Given the description of an element on the screen output the (x, y) to click on. 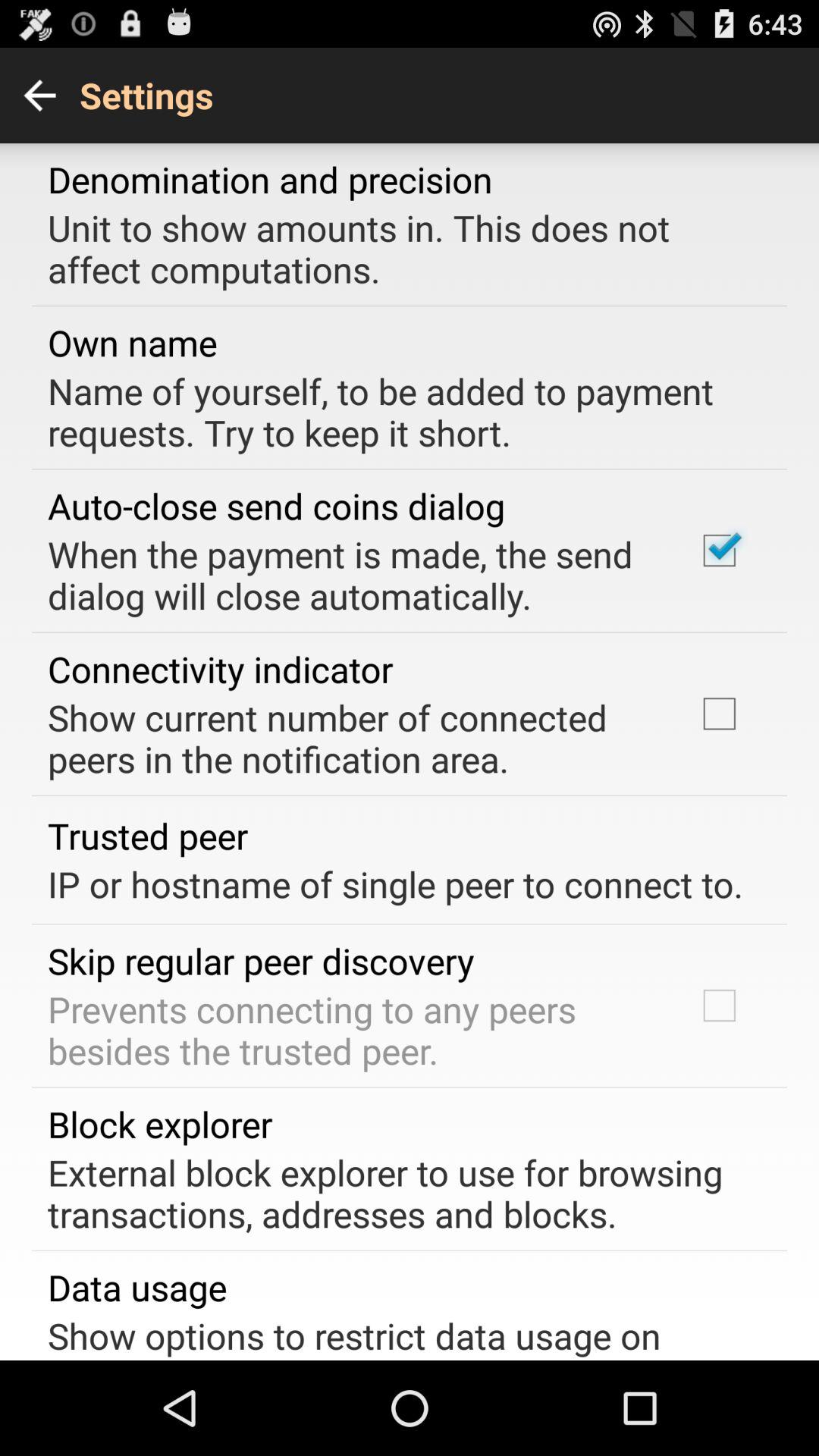
flip to the own name icon (132, 342)
